Given the description of an element on the screen output the (x, y) to click on. 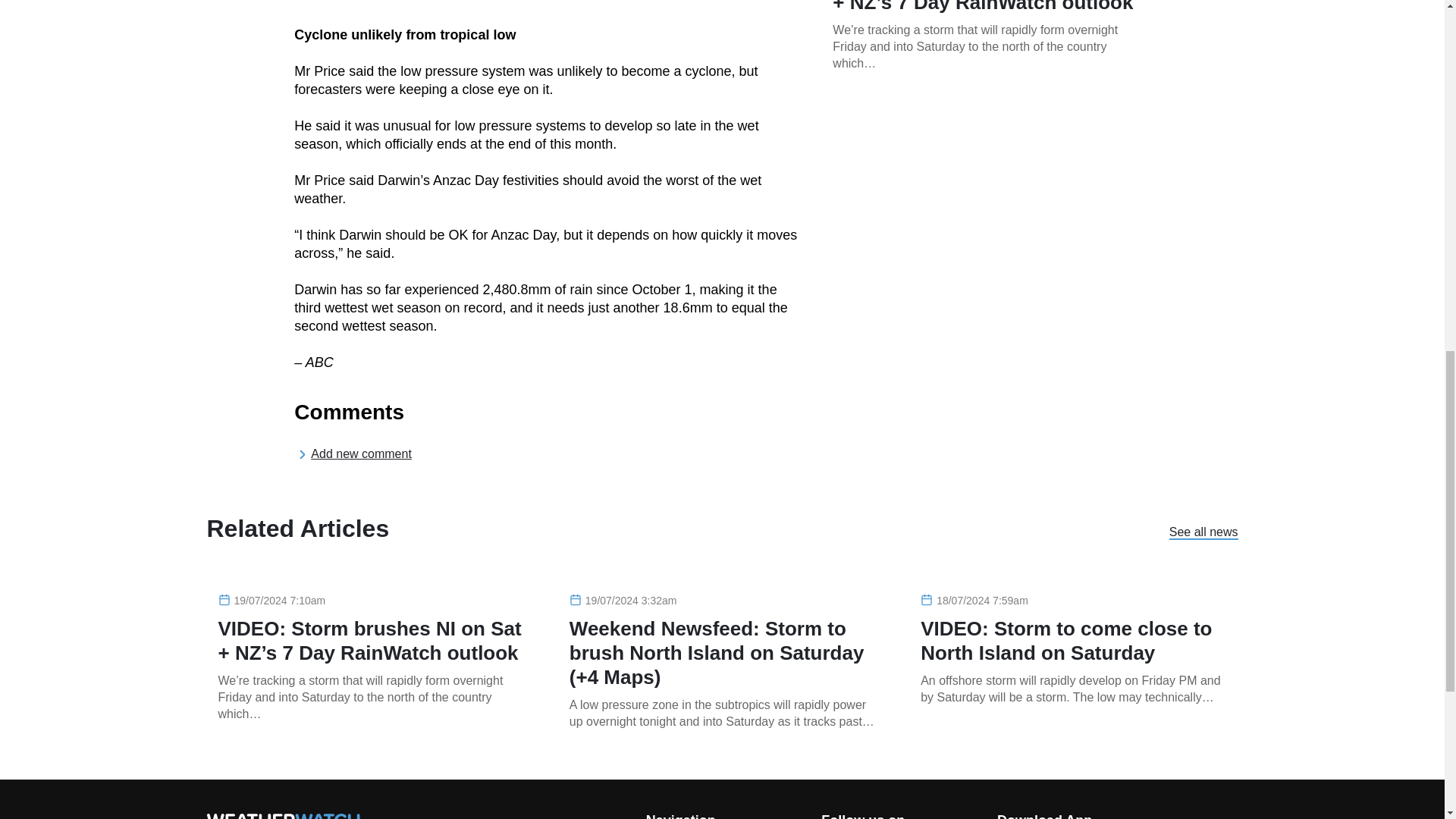
3rd party ad content (985, 216)
